Given the description of an element on the screen output the (x, y) to click on. 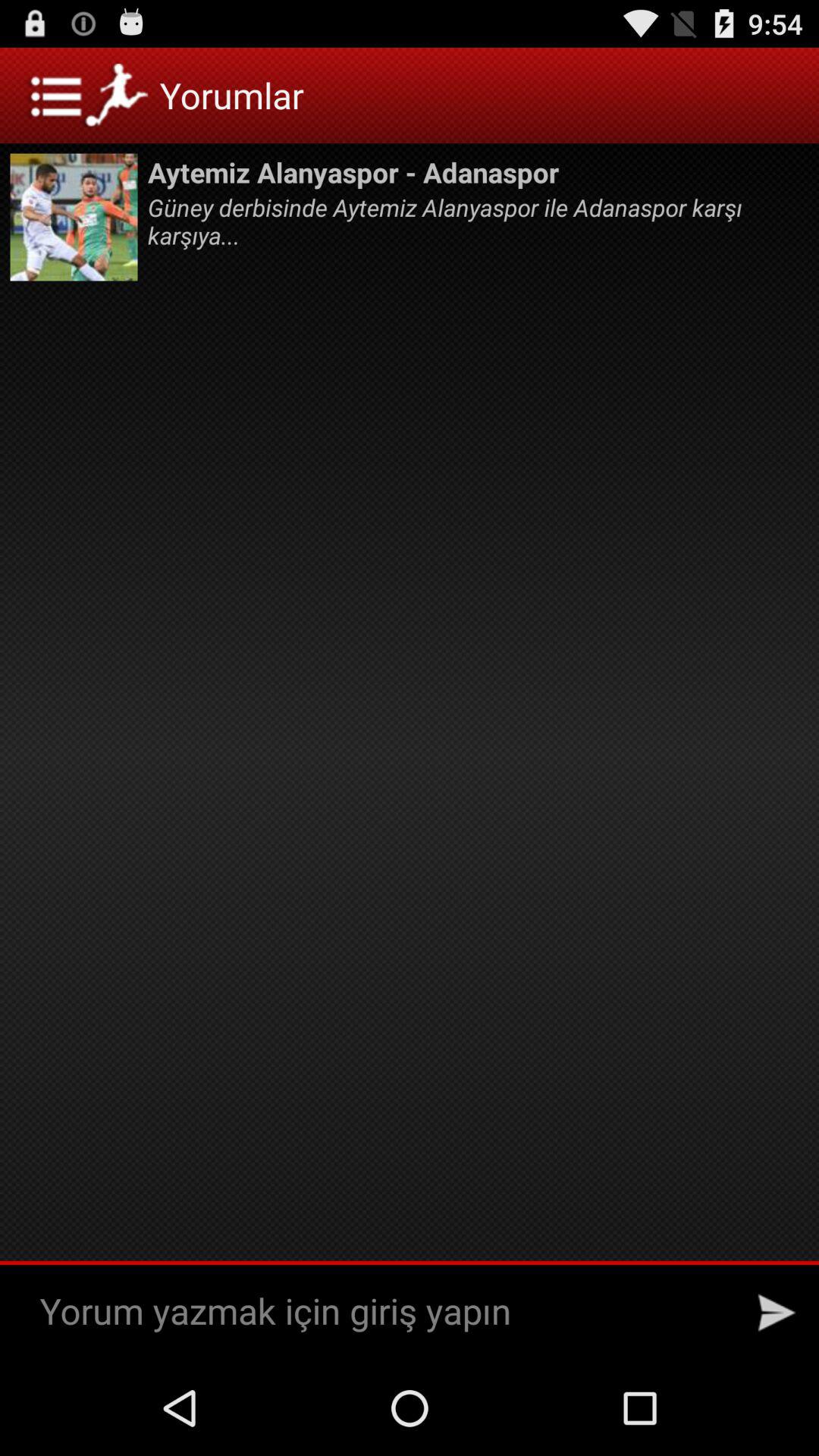
next button (776, 1312)
